Given the description of an element on the screen output the (x, y) to click on. 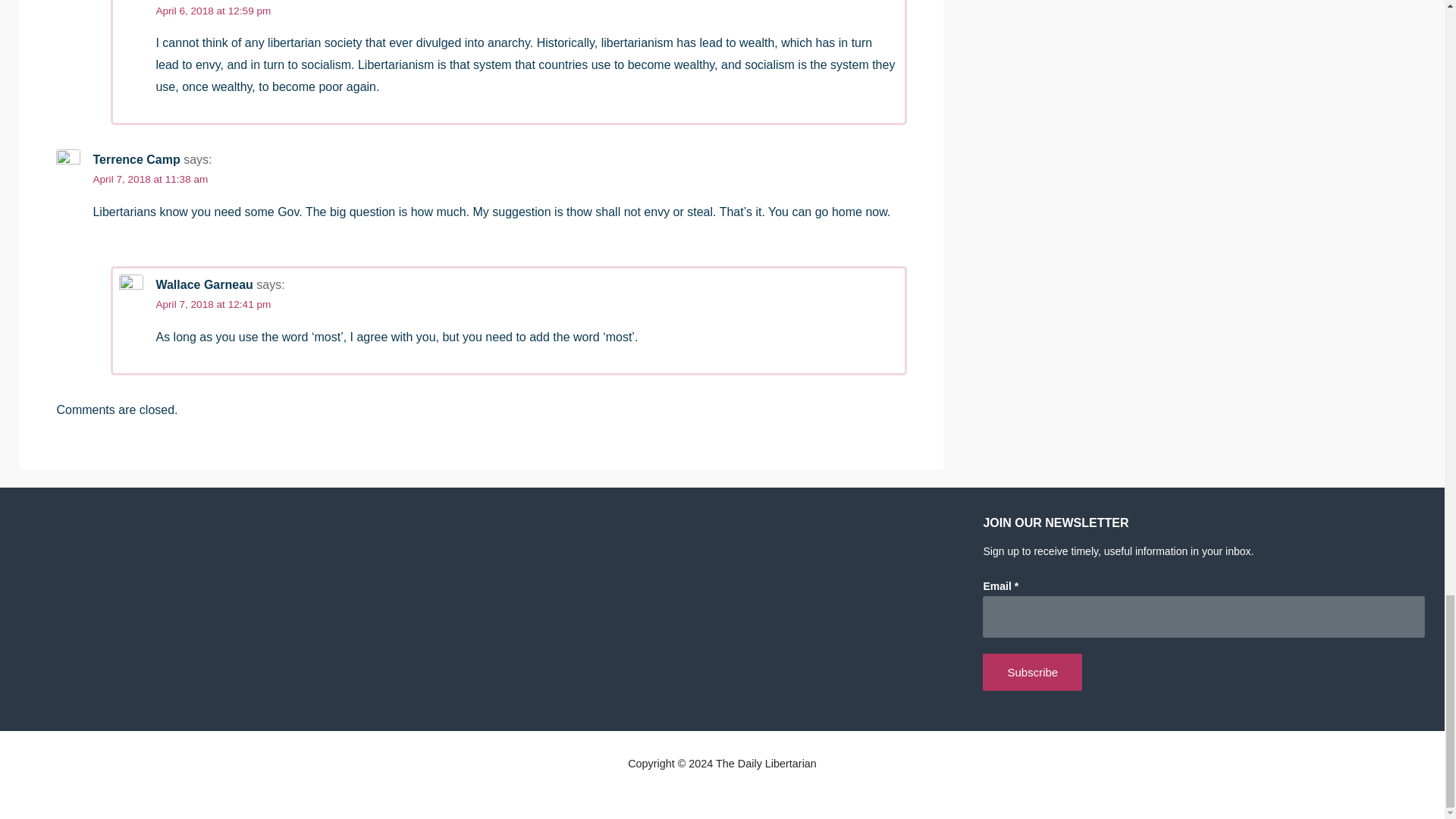
April 6, 2018 at 12:59 pm (212, 10)
Subscribe (1031, 672)
April 7, 2018 at 11:38 am (150, 179)
April 7, 2018 at 12:41 pm (212, 304)
